Given the description of an element on the screen output the (x, y) to click on. 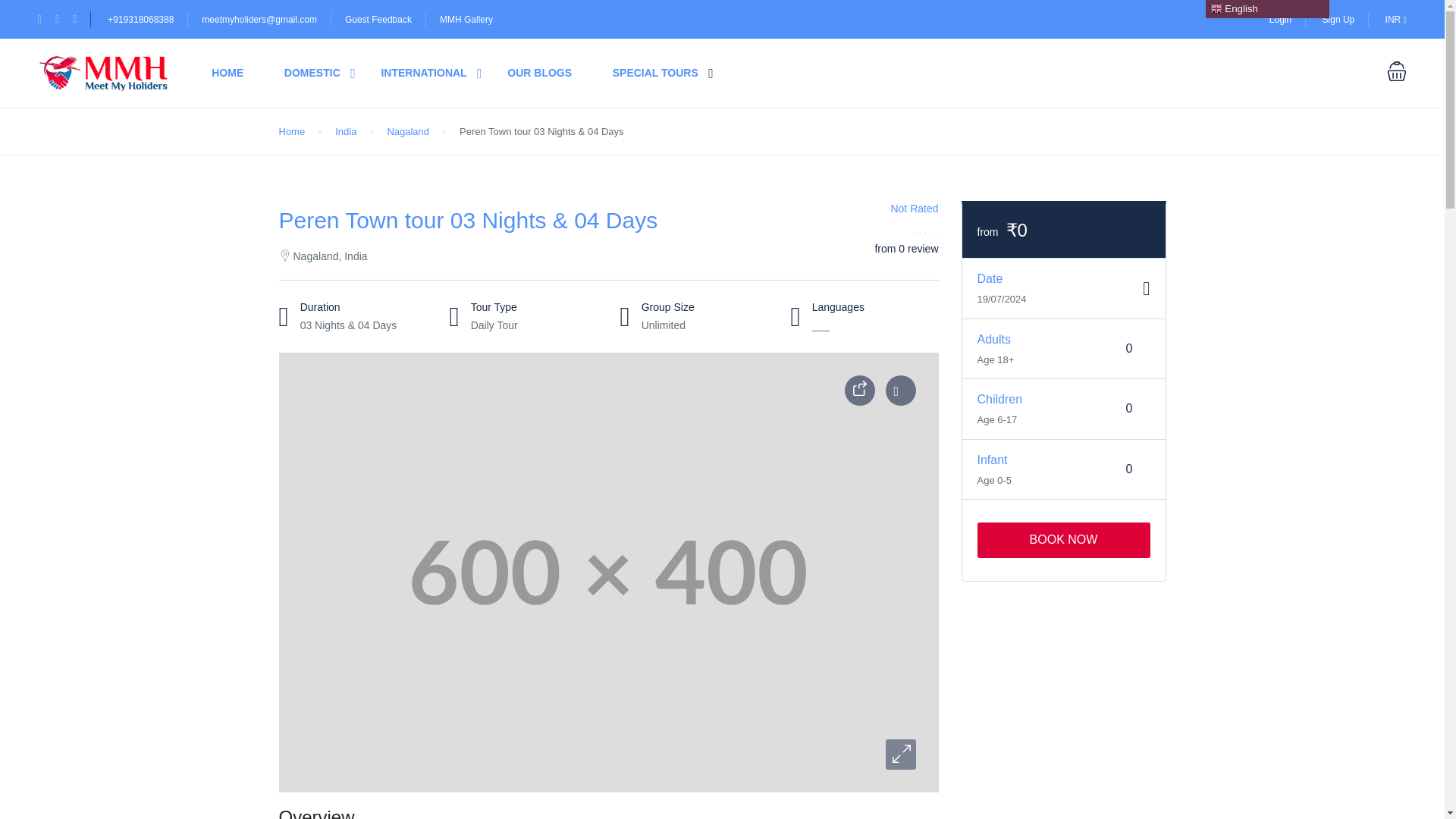
MMH Gallery (466, 19)
0 (1129, 469)
Sign Up (1338, 18)
Guest Feedback (378, 19)
0 (1129, 348)
Login (1280, 18)
DOMESTIC (311, 72)
0 (1129, 408)
INR (1396, 18)
HOME (227, 72)
